Given the description of an element on the screen output the (x, y) to click on. 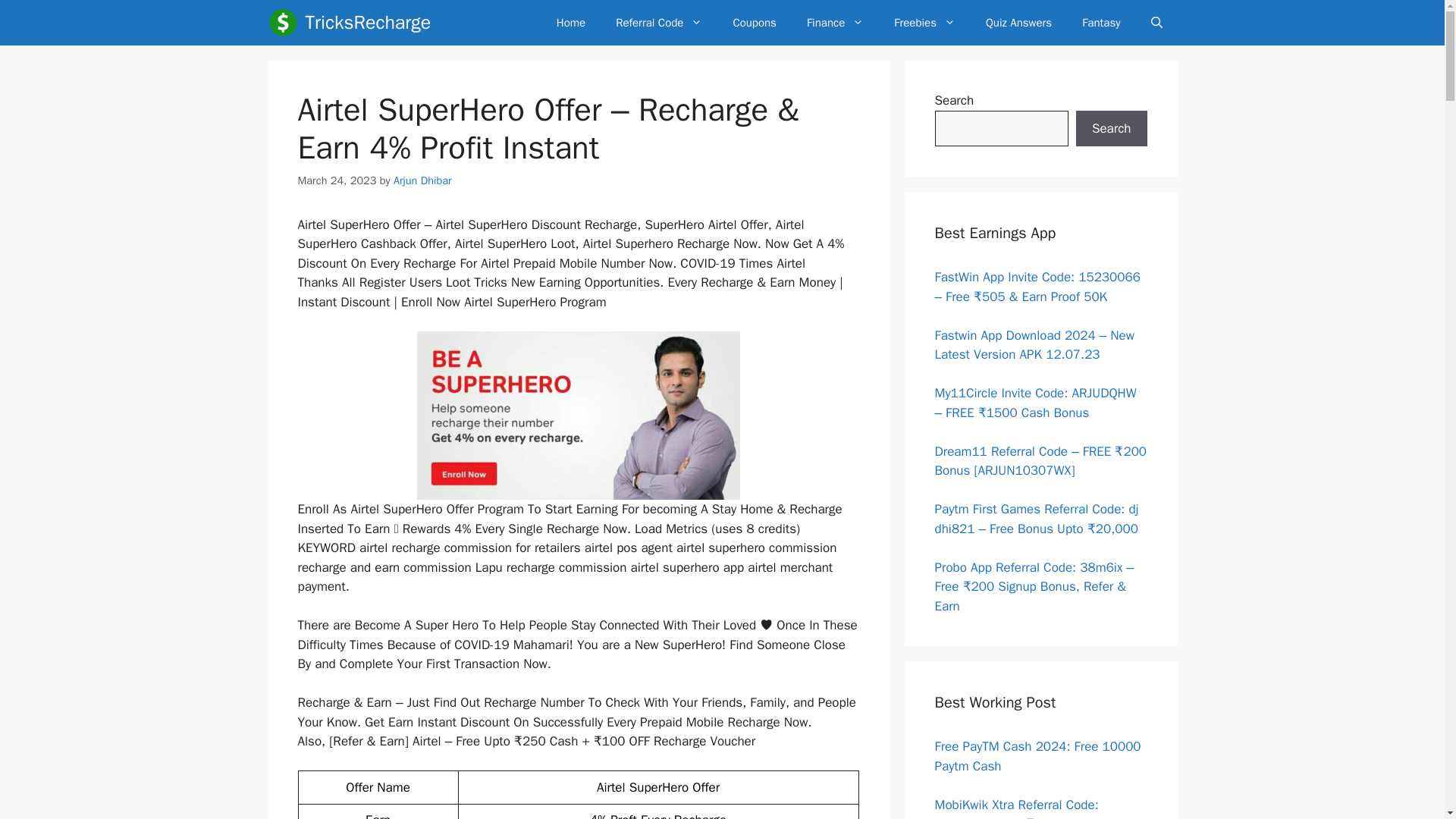
Fantasy (1101, 22)
View all posts by Arjun Dhibar (422, 180)
Referral Code (658, 22)
Coupons (754, 22)
Quiz Answers (1019, 22)
Home (570, 22)
Freebies (925, 22)
Finance (835, 22)
Arjun Dhibar (422, 180)
TricksRecharge (367, 22)
